Given the description of an element on the screen output the (x, y) to click on. 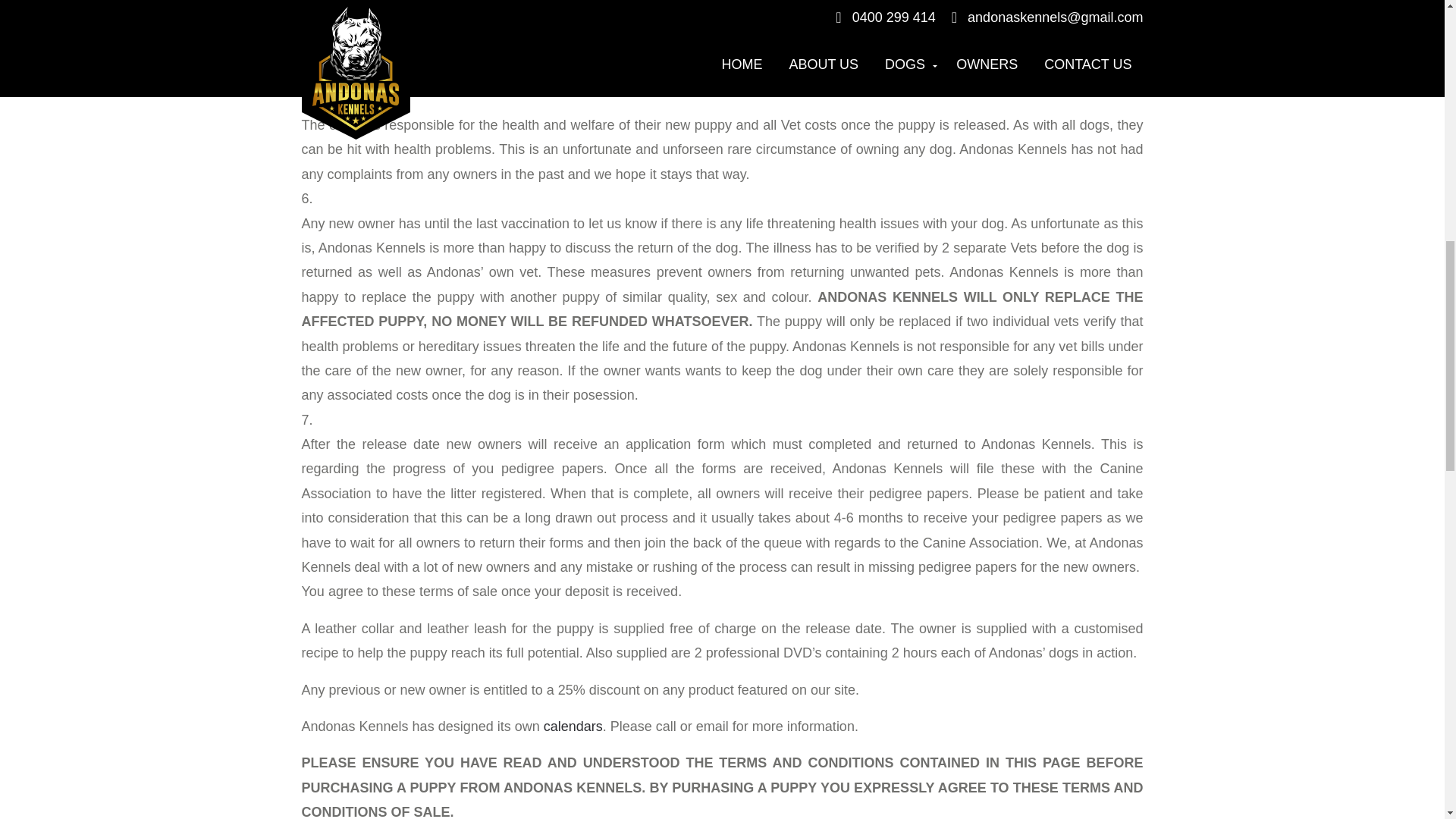
calendars (572, 726)
